Given the description of an element on the screen output the (x, y) to click on. 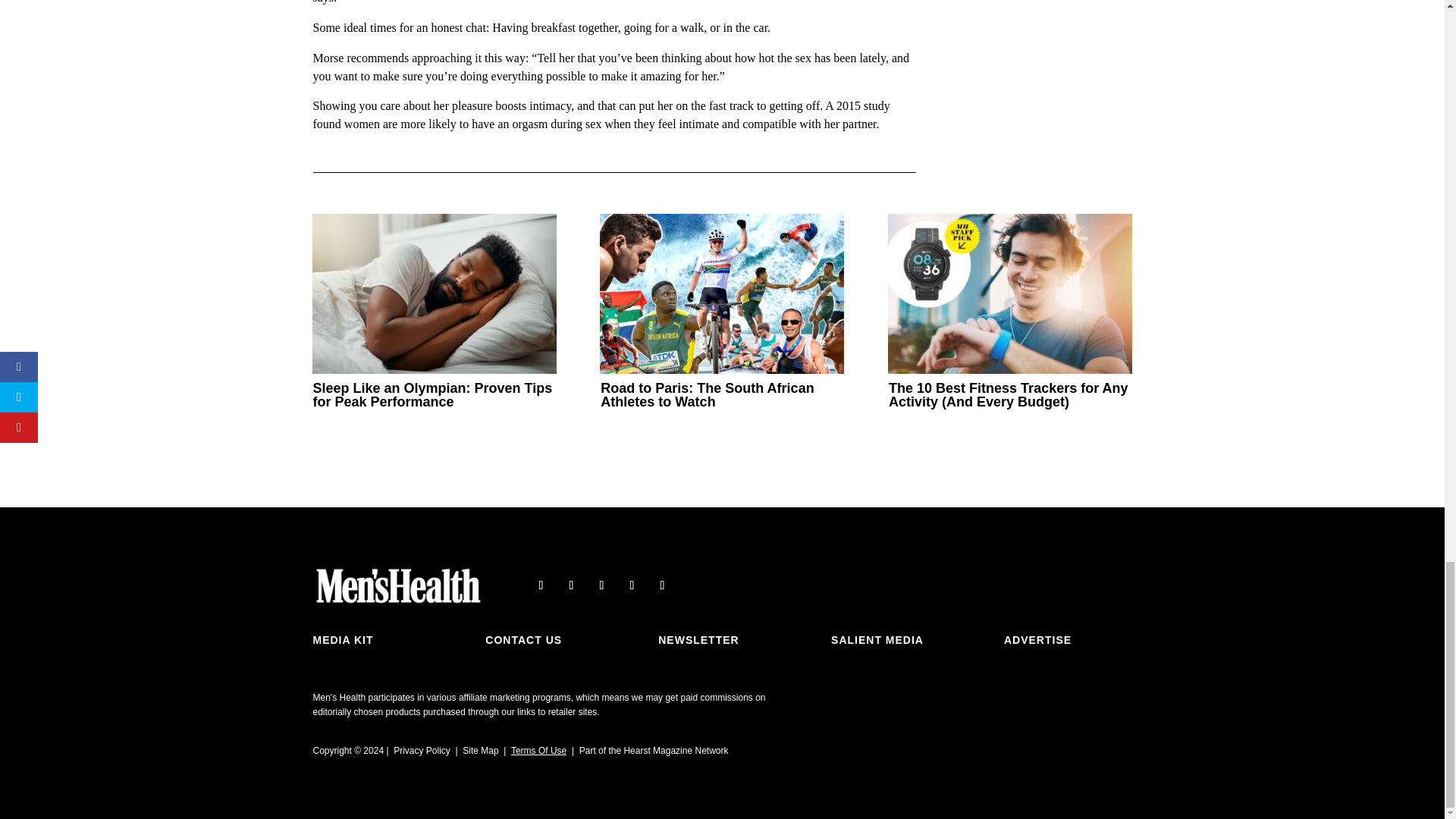
Follow on X (571, 585)
Follow on Instagram (600, 585)
Follow on TikTok (661, 585)
Follow on Youtube (631, 585)
Follow on Facebook (540, 585)
